Given the description of an element on the screen output the (x, y) to click on. 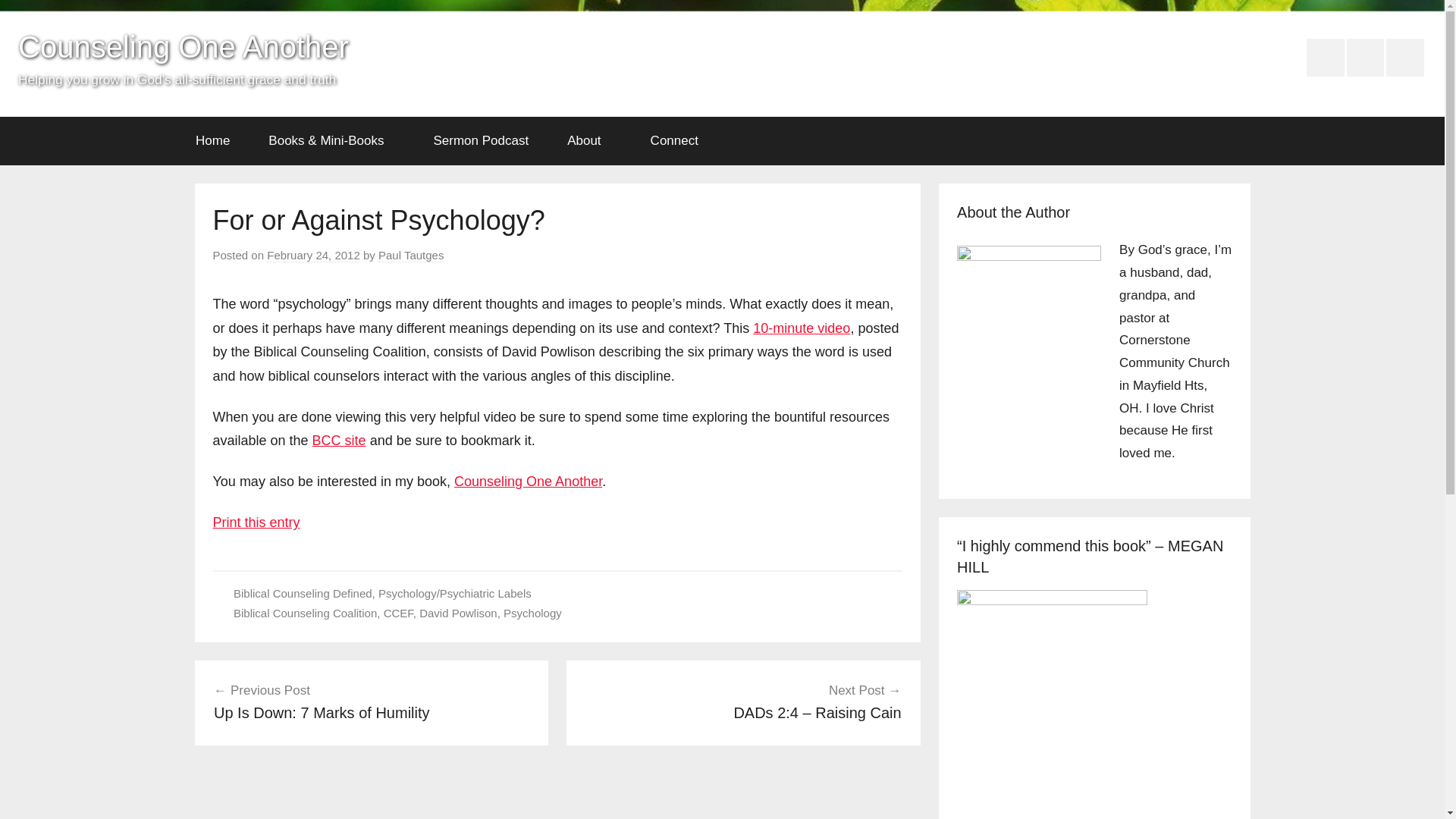
Paul Tautges (411, 255)
10-minute video (801, 328)
View all posts by Paul Tautges (411, 255)
Facebook (1324, 57)
Biblical Counseling Coalition (304, 612)
RSS (1365, 57)
Connect (679, 141)
Sermon Podcast (480, 141)
CCEF (398, 612)
February 24, 2012 (312, 255)
